Given the description of an element on the screen output the (x, y) to click on. 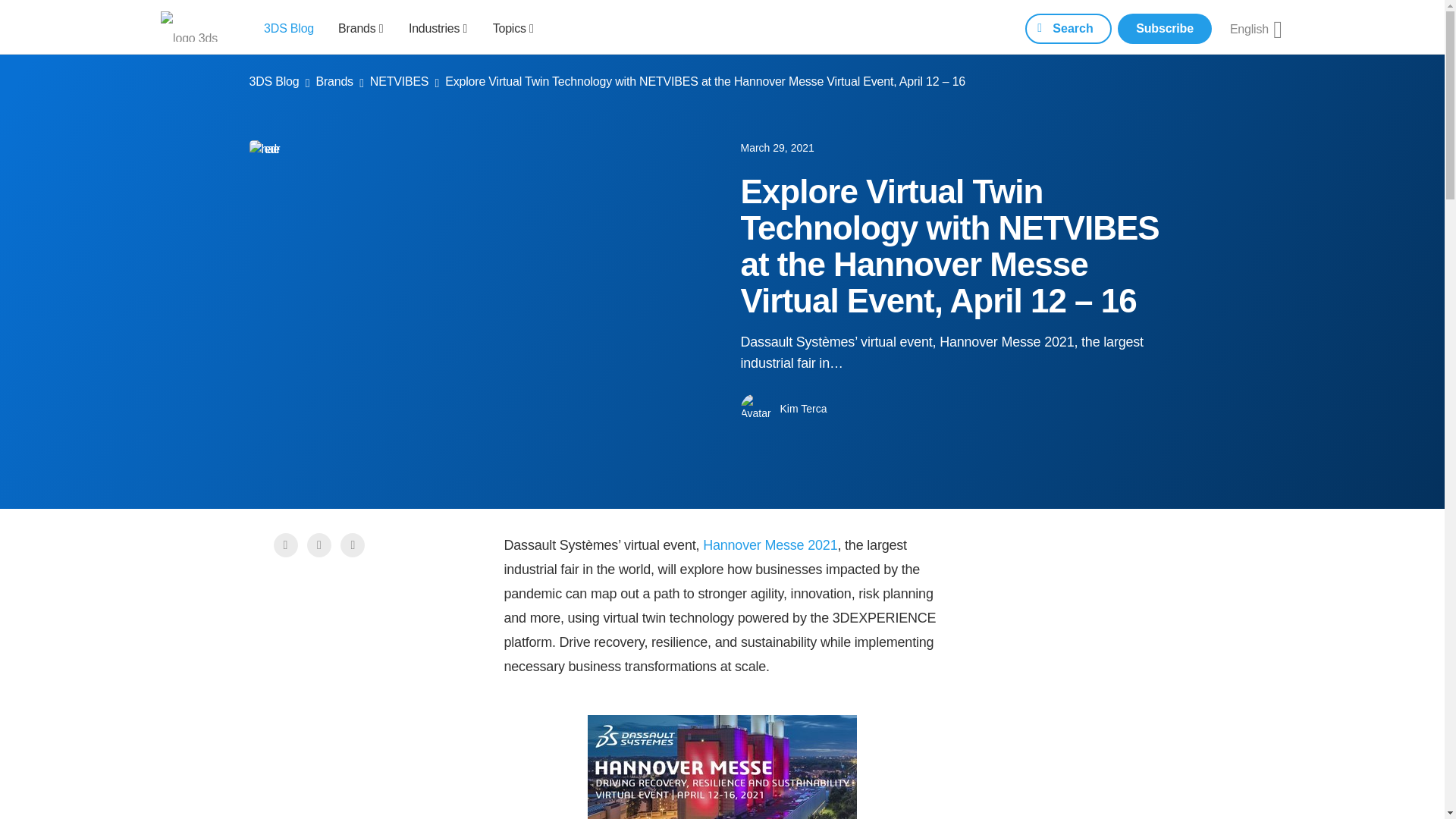
Topics (513, 27)
Subscribe (1164, 28)
Share on Linkedin (354, 545)
Brands (360, 27)
Industries (438, 27)
3DS Blog (288, 27)
Share on Twitter (320, 545)
Share on Facebook (285, 543)
